Given the description of an element on the screen output the (x, y) to click on. 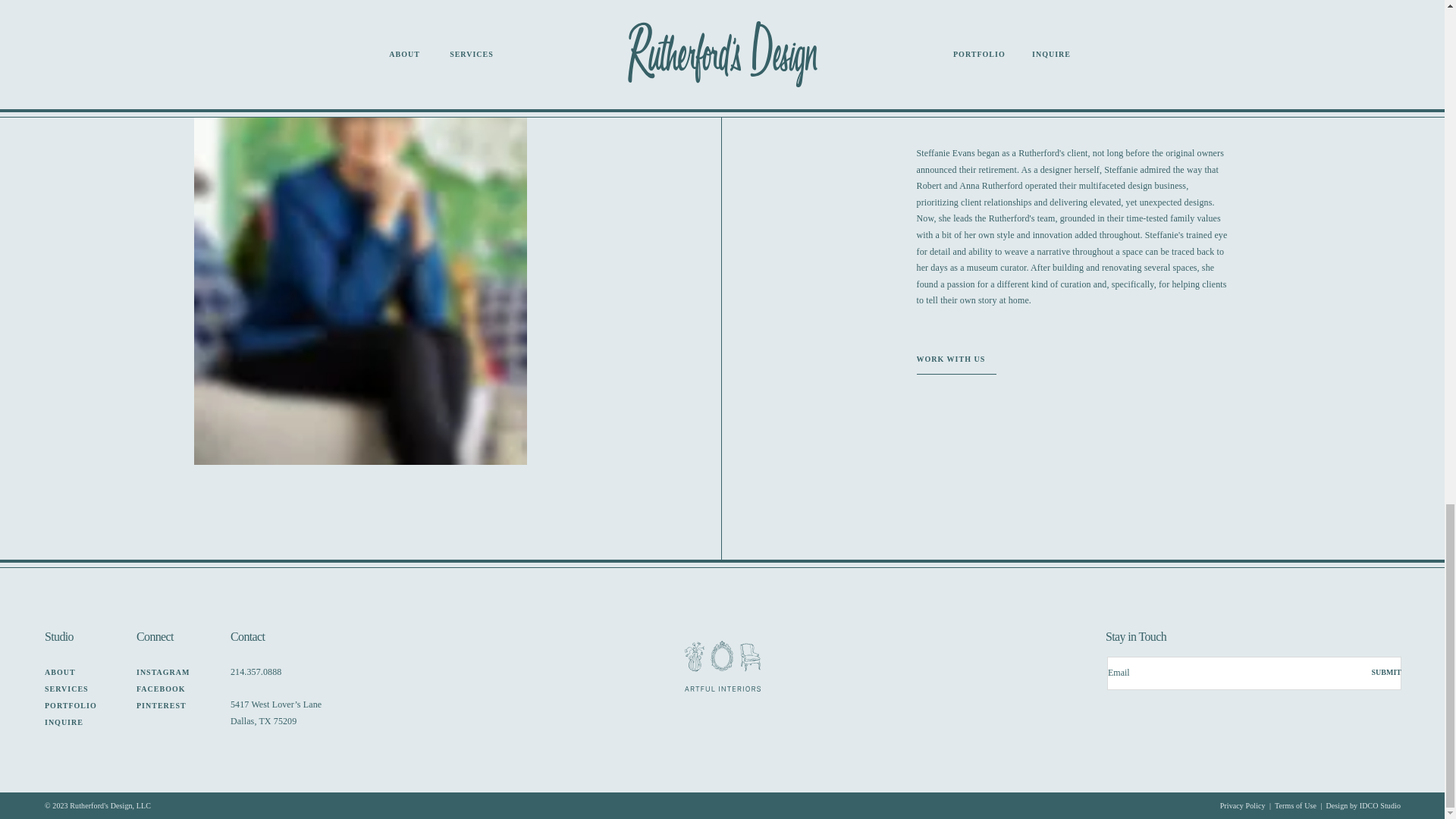
Privacy Policy (1242, 805)
ABOUT (80, 672)
Terms of Use (1295, 805)
PORTFOLIO (84, 705)
SUBMIT (1369, 672)
SERVICES (82, 689)
INSTAGRAM (175, 672)
FACEBOOK (175, 689)
IDCO Studio (1379, 805)
PINTEREST (175, 705)
WORK WITH US (956, 358)
INQUIRE (84, 722)
